Given the description of an element on the screen output the (x, y) to click on. 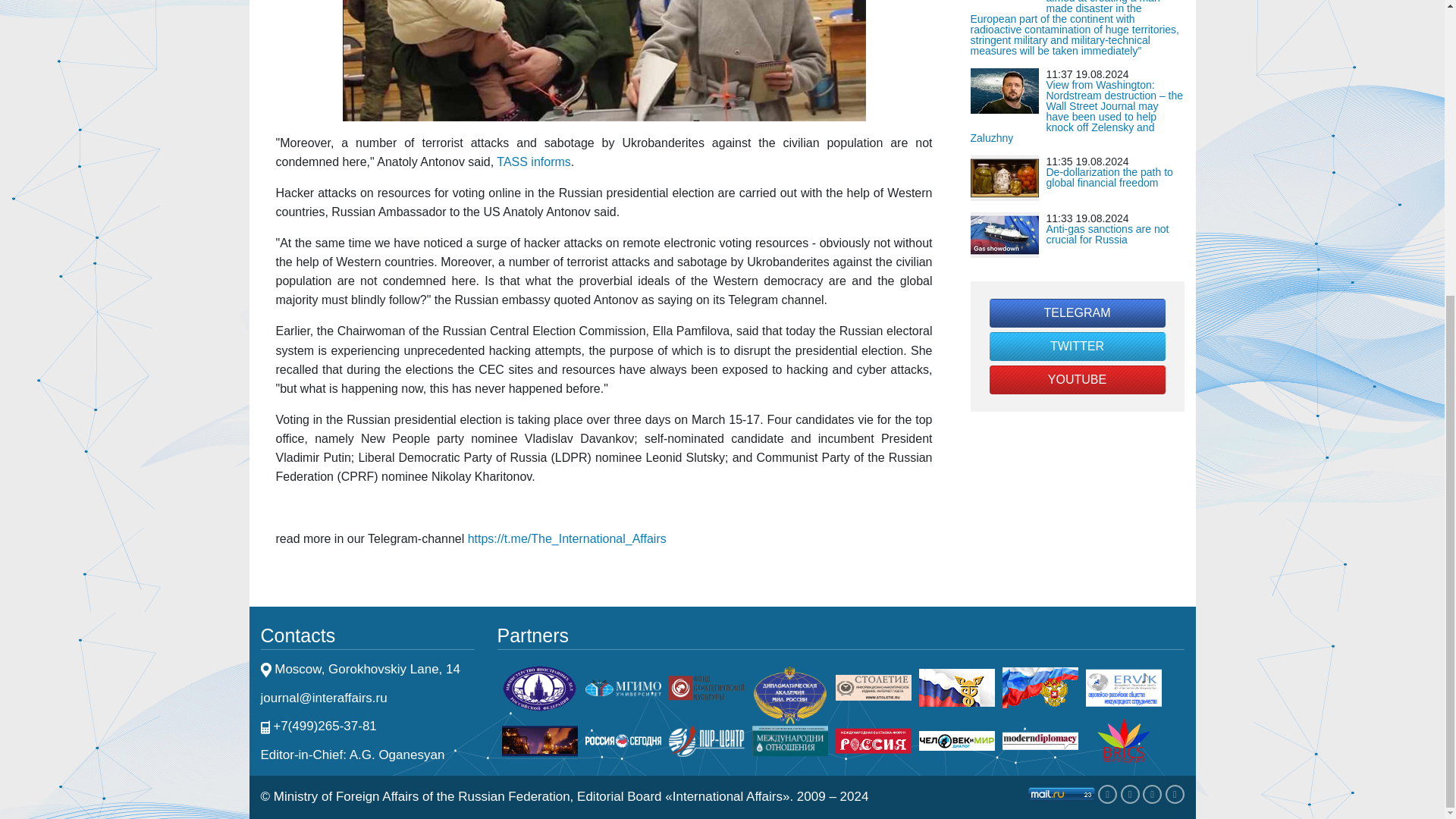
TASS informs (533, 161)
De-dollarization the path to global financial freedom (1109, 177)
www.ervik-eu.org (1123, 686)
Anti-gas sanctions are not crucial for Russia (1107, 233)
